Given the description of an element on the screen output the (x, y) to click on. 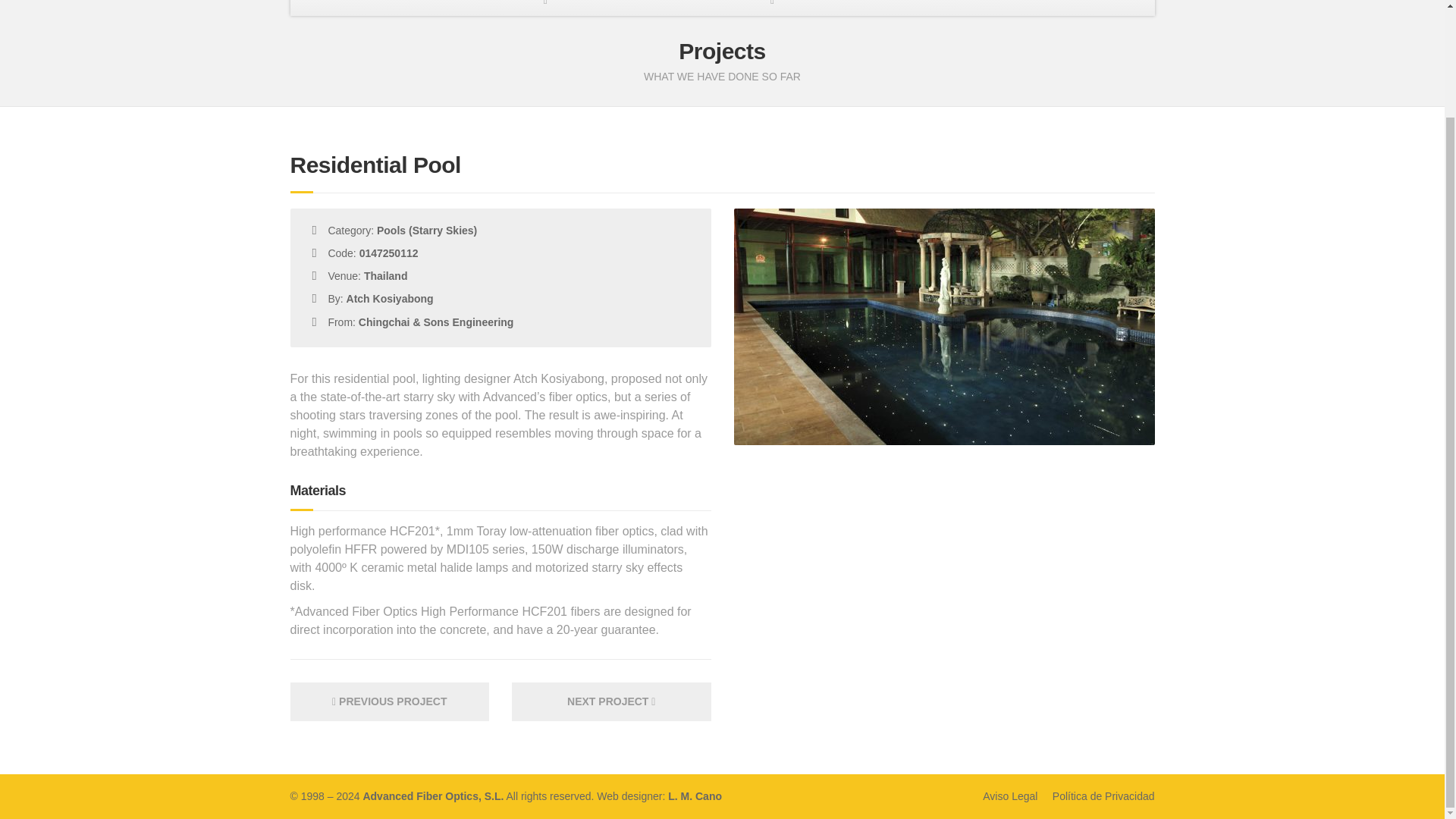
INFO (877, 7)
Aviso Legal (1009, 796)
ABOUT US (441, 7)
PREVIOUS PROJECT (389, 701)
CONTACT (1086, 7)
NEXT PROJECT (611, 701)
DISTRIBUTORS (975, 7)
HOME (351, 7)
L. M. Cano (695, 796)
PRODUCTS (544, 7)
